Given the description of an element on the screen output the (x, y) to click on. 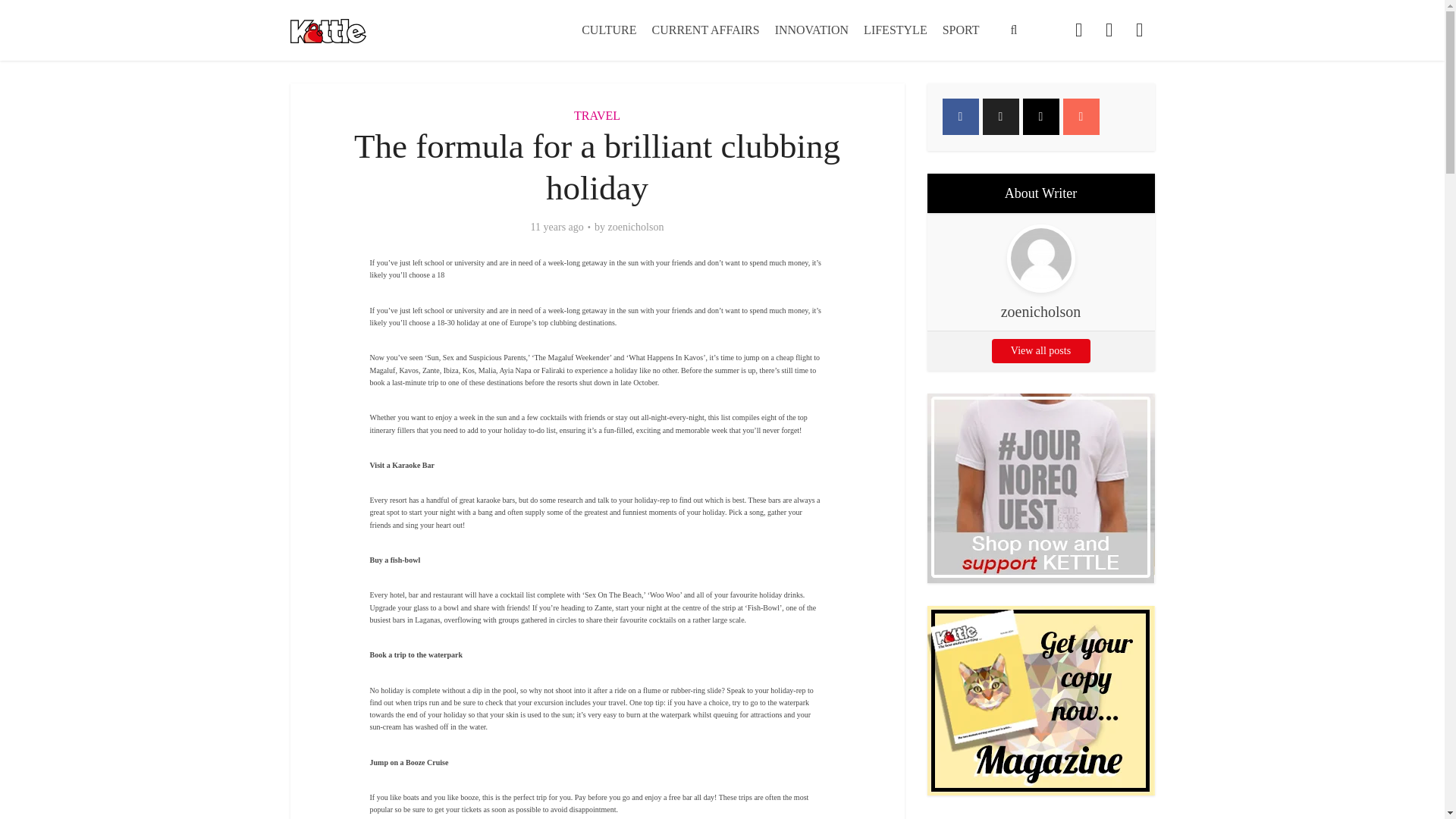
INNOVATION (811, 30)
LIFESTYLE (895, 30)
Instagram (1040, 116)
CURRENT AFFAIRS (706, 30)
CULTURE (608, 30)
Facebook (960, 116)
zoenicholson (635, 227)
TRAVEL (596, 115)
